Given the description of an element on the screen output the (x, y) to click on. 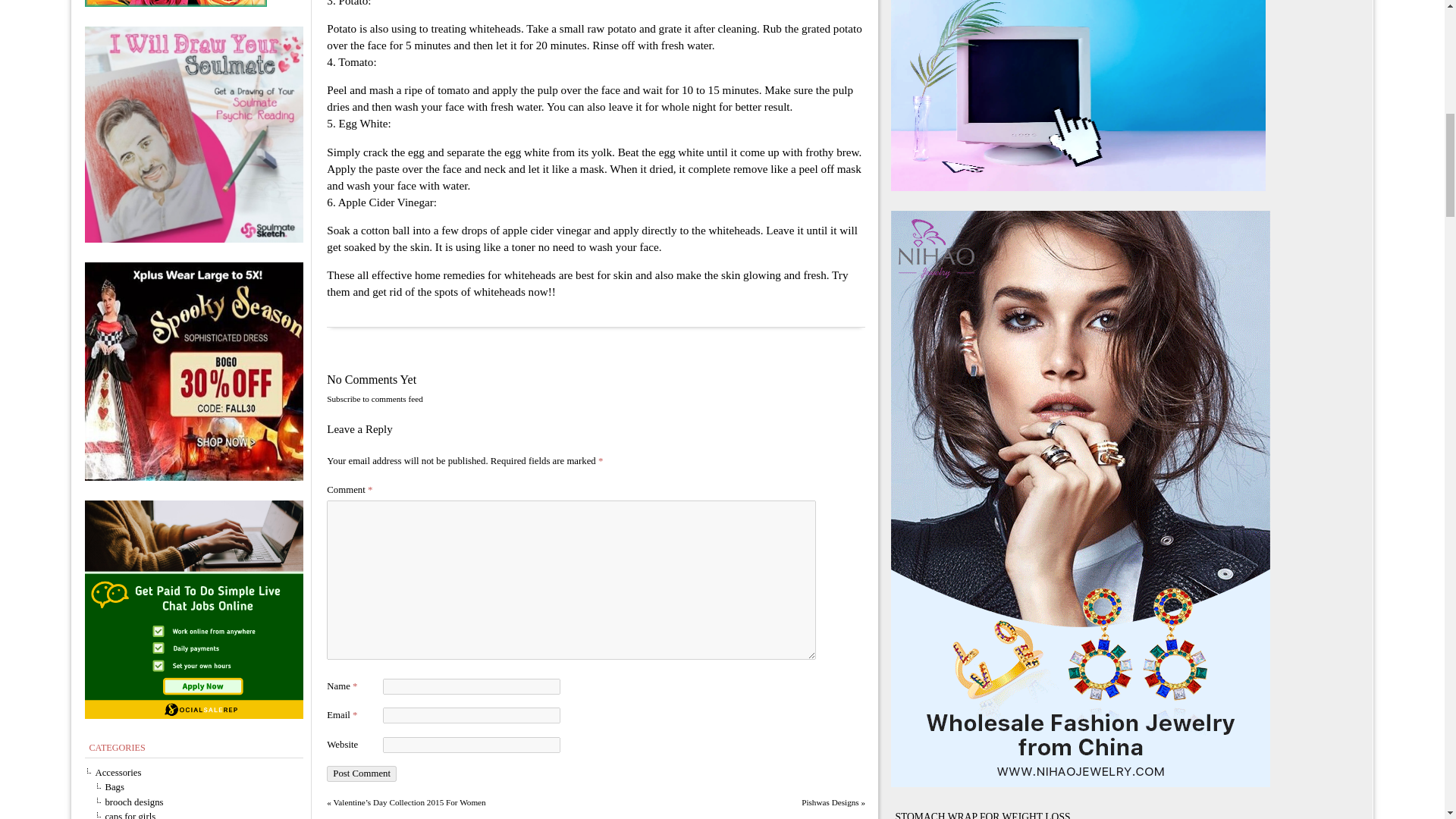
Post Comment (361, 773)
Subscribe to comments feed (374, 398)
Post Comment (361, 773)
Pishwas Designs (830, 801)
 Effective Home Remedies For Whiteheads (374, 398)
